Given the description of an element on the screen output the (x, y) to click on. 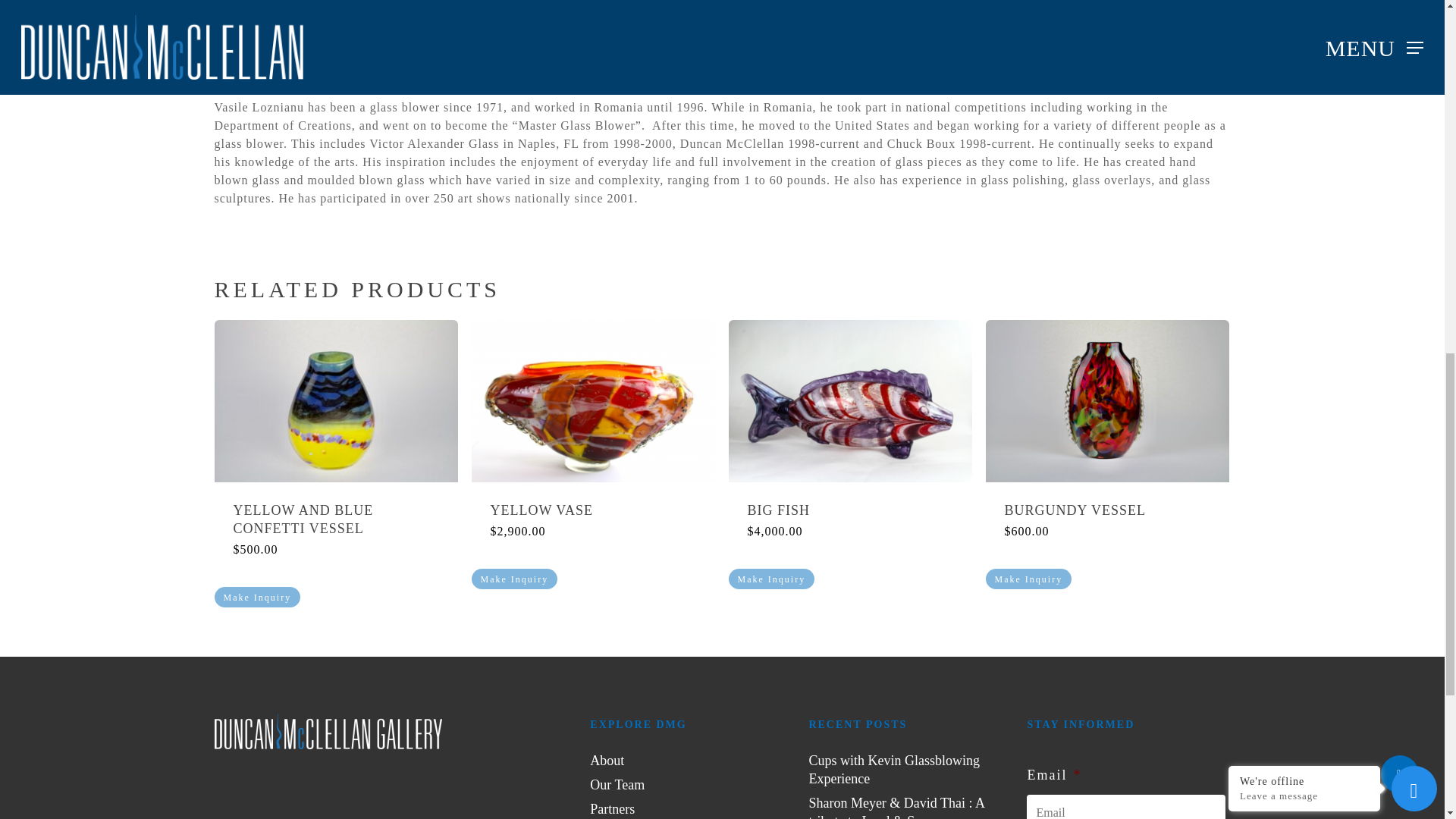
BIG FISH (850, 510)
Description (722, 31)
Make Inquiry (514, 578)
Make Inquiry (256, 597)
Make Inquiry (770, 578)
BURGUNDY VESSEL (1106, 510)
Make Inquiry (1028, 578)
YELLOW AND BLUE CONFETTI VESSEL (335, 519)
YELLOW VASE (592, 510)
